Given the description of an element on the screen output the (x, y) to click on. 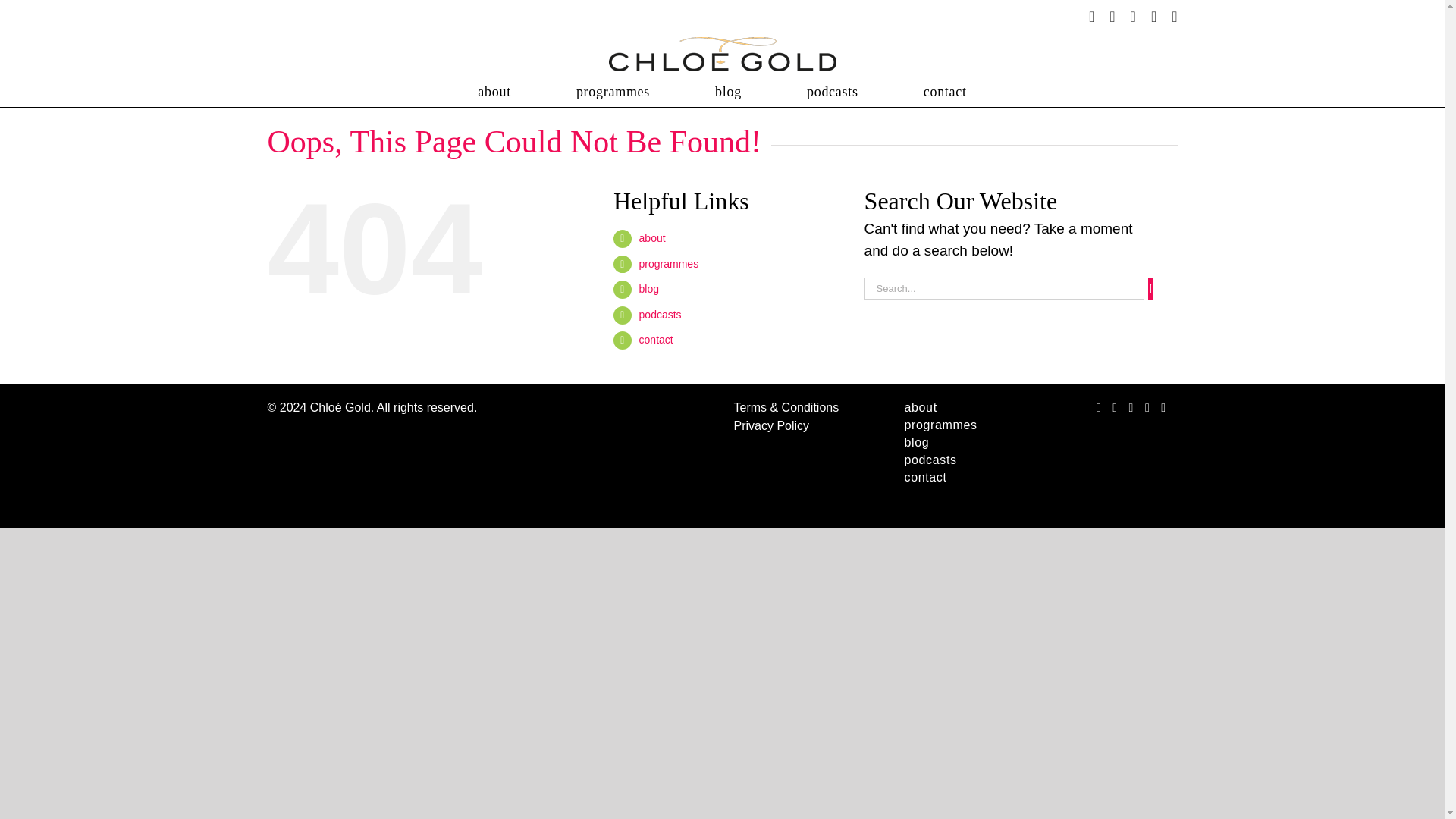
blog (954, 443)
podcasts (660, 314)
programmes (612, 91)
contact (655, 339)
Privacy Policy (771, 425)
about (652, 237)
about (954, 407)
podcasts (832, 91)
blog (649, 288)
about (494, 91)
